Given the description of an element on the screen output the (x, y) to click on. 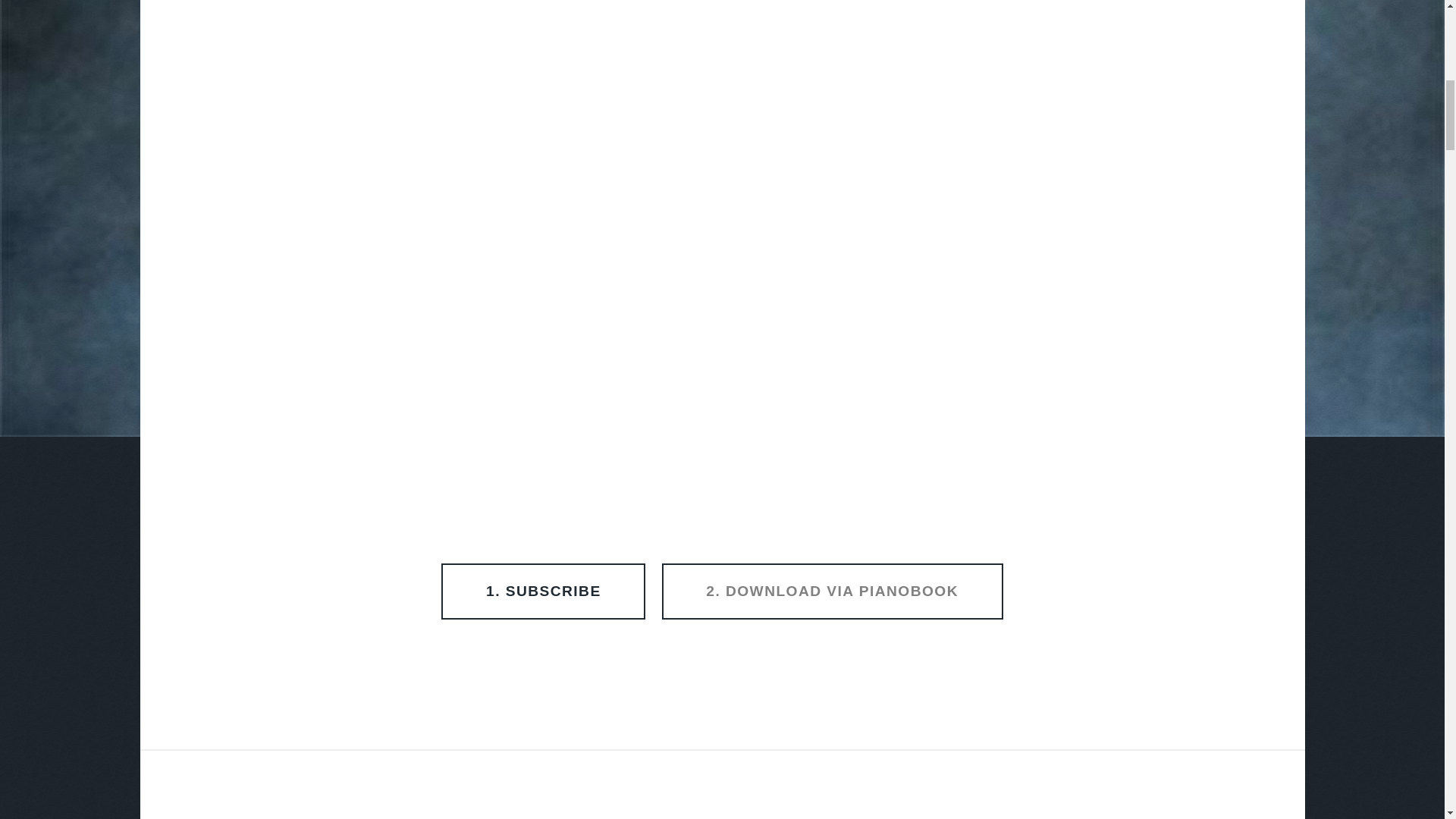
1. SUBSCRIBE (543, 591)
2. DOWNLOAD VIA PIANOBOOK (832, 591)
